Given the description of an element on the screen output the (x, y) to click on. 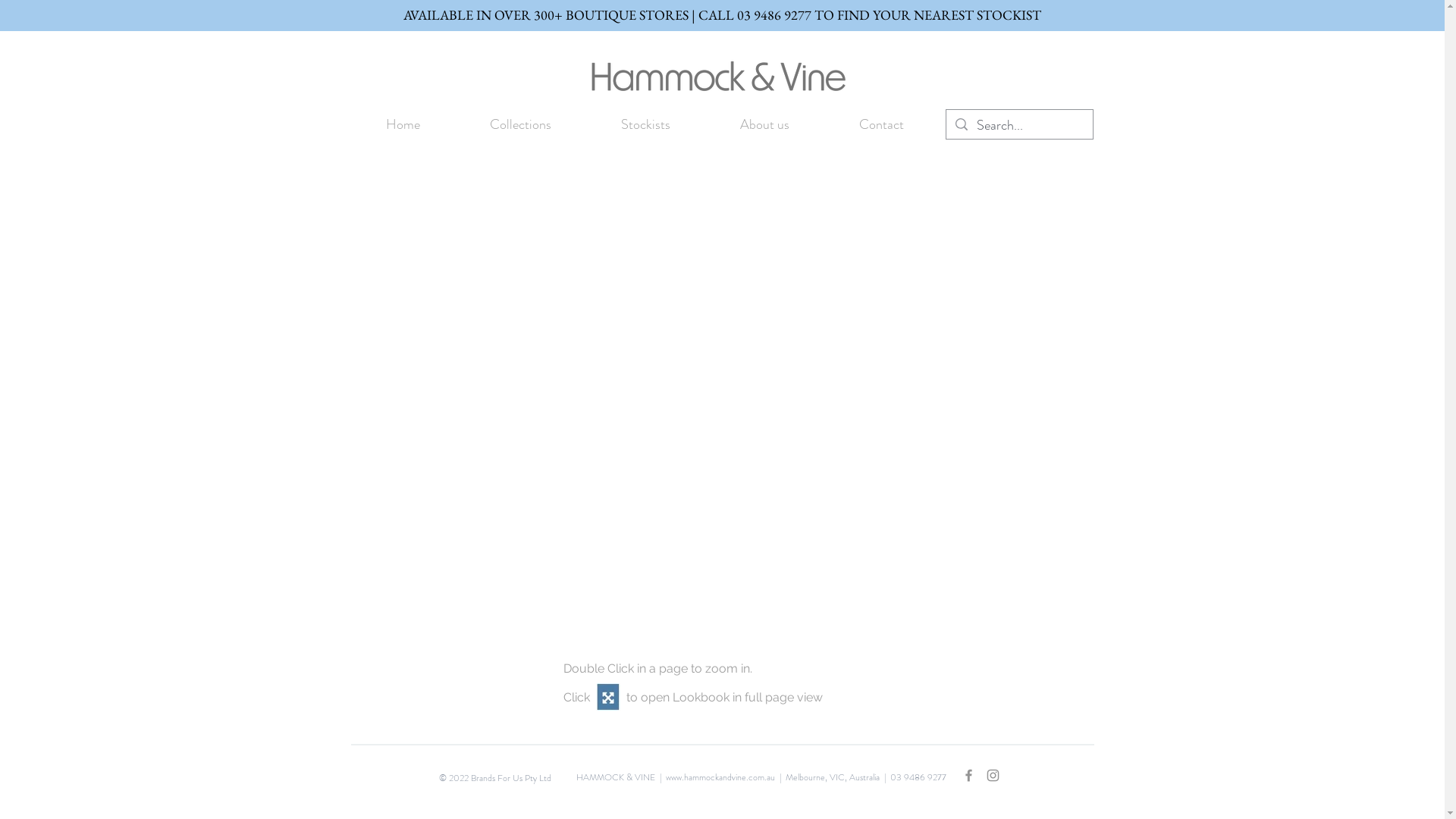
Stockists Element type: text (644, 123)
Collections Element type: text (520, 123)
Hammock & Vine Home Element type: hover (716, 77)
About us Element type: text (764, 123)
Contact Element type: text (880, 123)
www.hammockandvine.com.au Element type: text (720, 777)
Home Element type: text (402, 123)
